Given the description of an element on the screen output the (x, y) to click on. 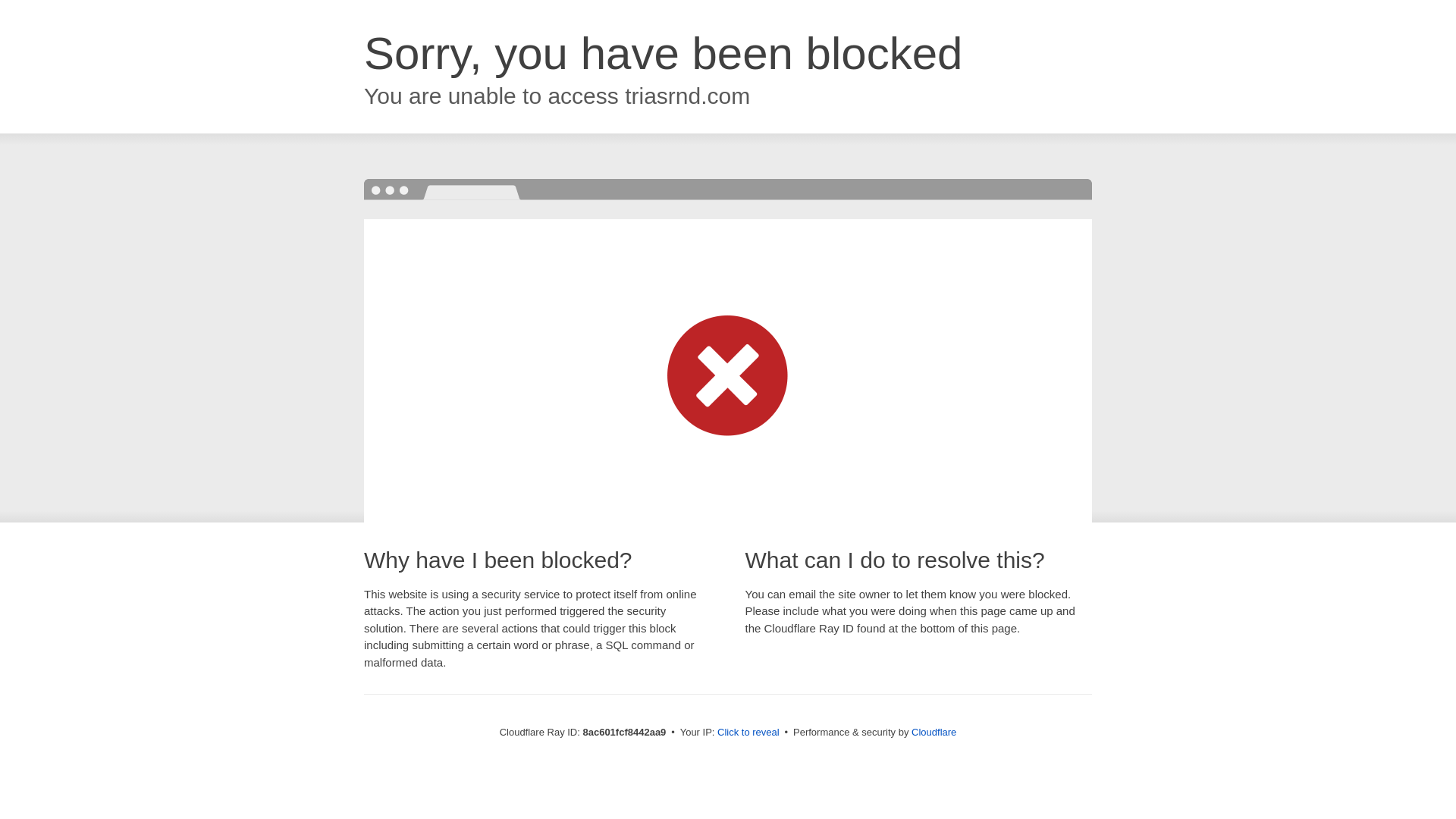
Click to reveal (747, 732)
Cloudflare (933, 731)
